Given the description of an element on the screen output the (x, y) to click on. 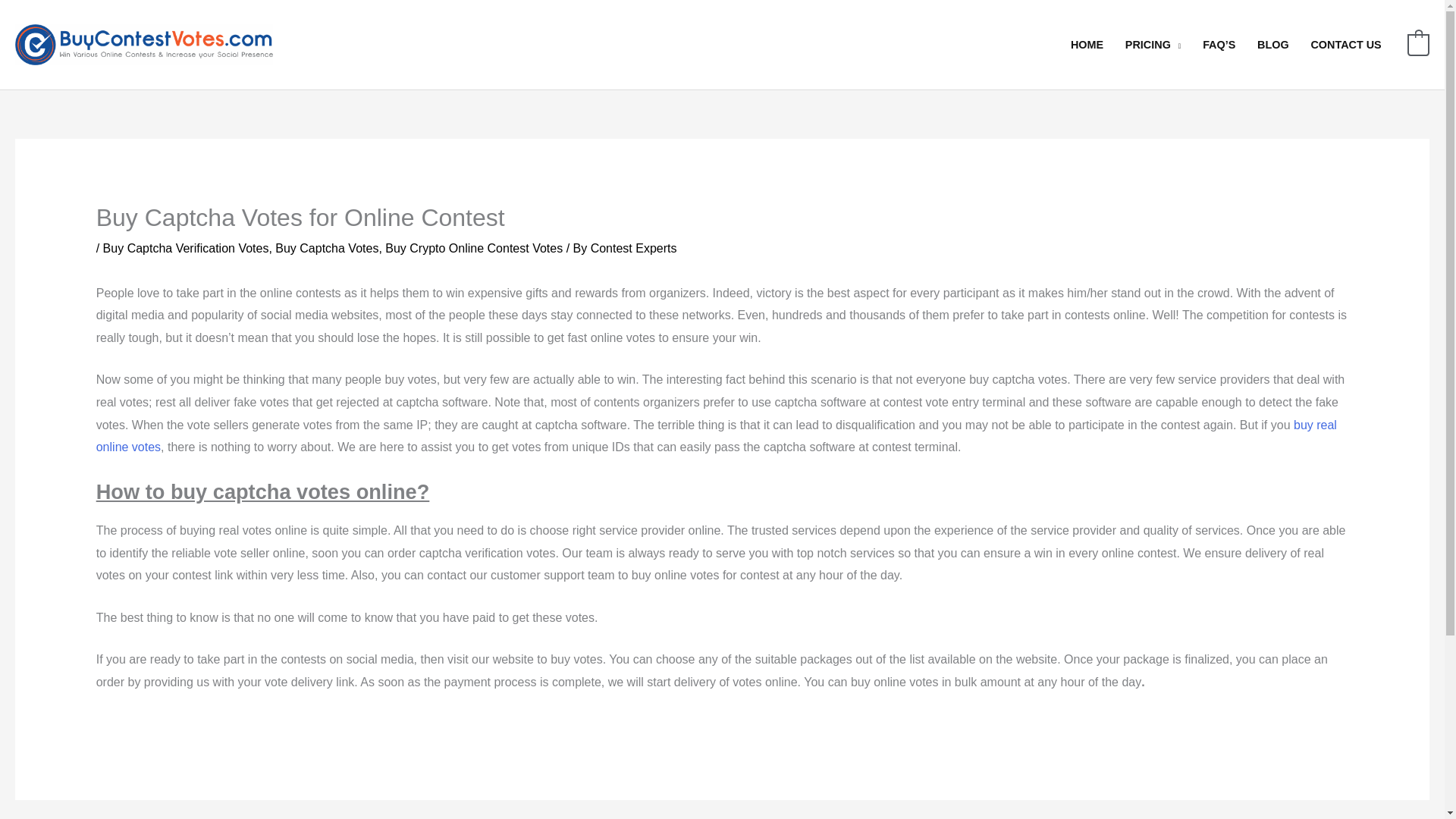
View all posts by Contest Experts (634, 247)
Buy Crypto Online Contest Votes (473, 247)
BLOG (1273, 44)
Buy Captcha Verification Votes (186, 247)
Contest Experts (634, 247)
PRICING (1152, 44)
HOME (1087, 44)
0 (1418, 43)
buy real online votes (716, 436)
Buy Captcha Votes (326, 247)
CONTACT US (1345, 44)
